Given the description of an element on the screen output the (x, y) to click on. 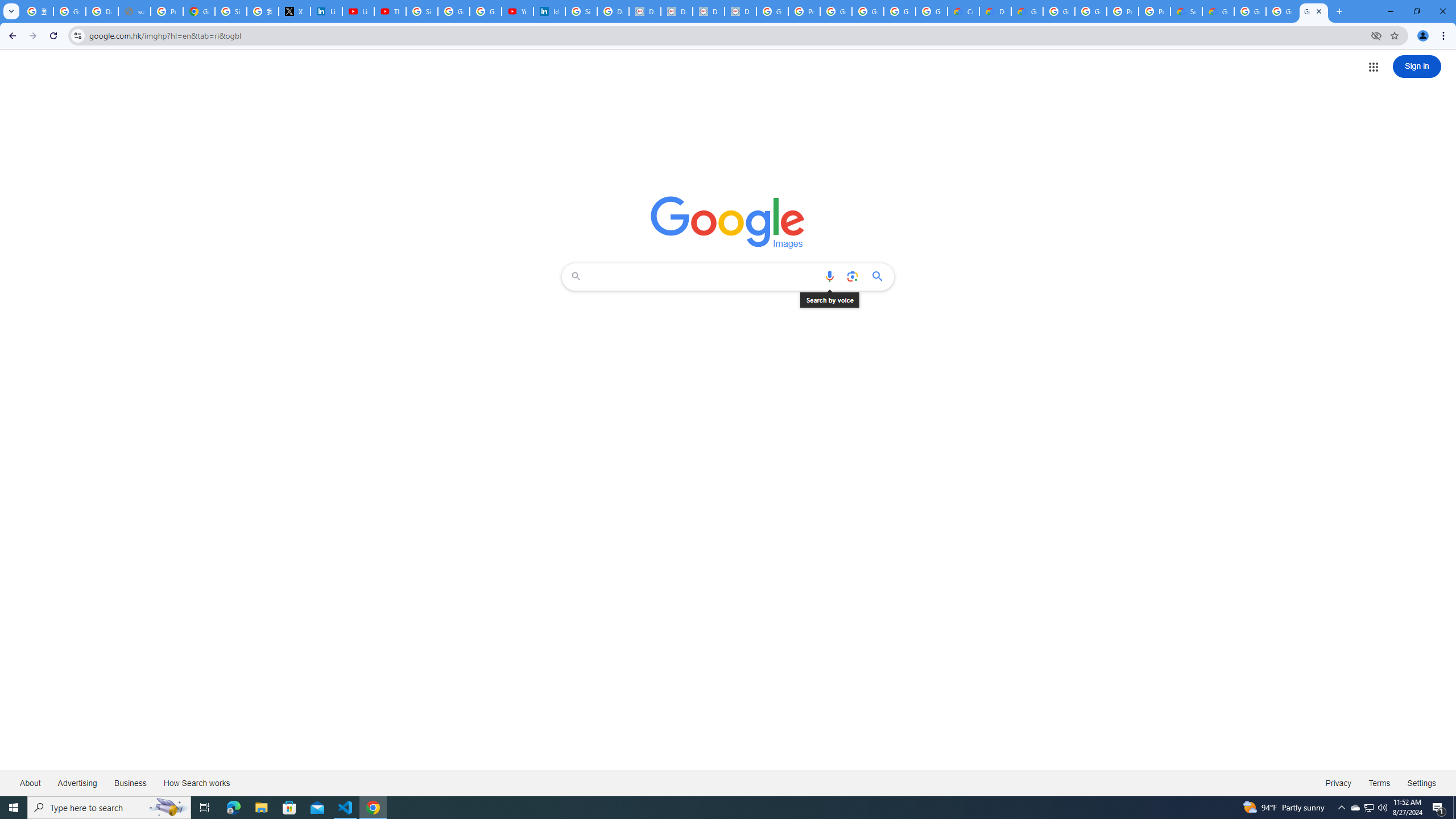
Sign in - Google Accounts (421, 11)
Google Workspace - Specific Terms (899, 11)
How Search works (196, 782)
Advertising (77, 782)
Data Privacy Framework (708, 11)
About (30, 782)
